Given the description of an element on the screen output the (x, y) to click on. 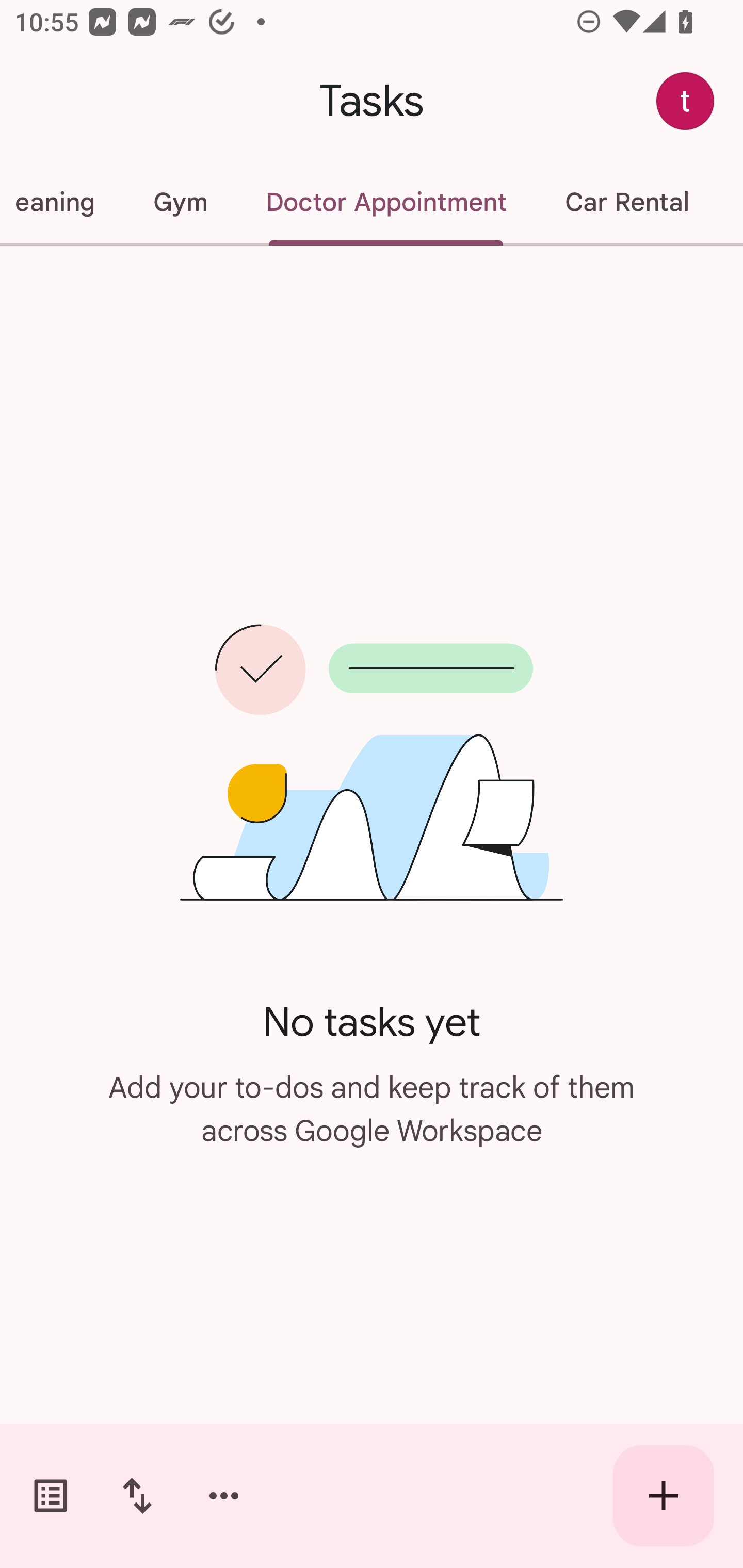
Cleaning (62, 202)
Gym (180, 202)
Car Rental (626, 202)
Switch task lists (50, 1495)
Create new task (663, 1495)
Change sort order (136, 1495)
More options (223, 1495)
